Given the description of an element on the screen output the (x, y) to click on. 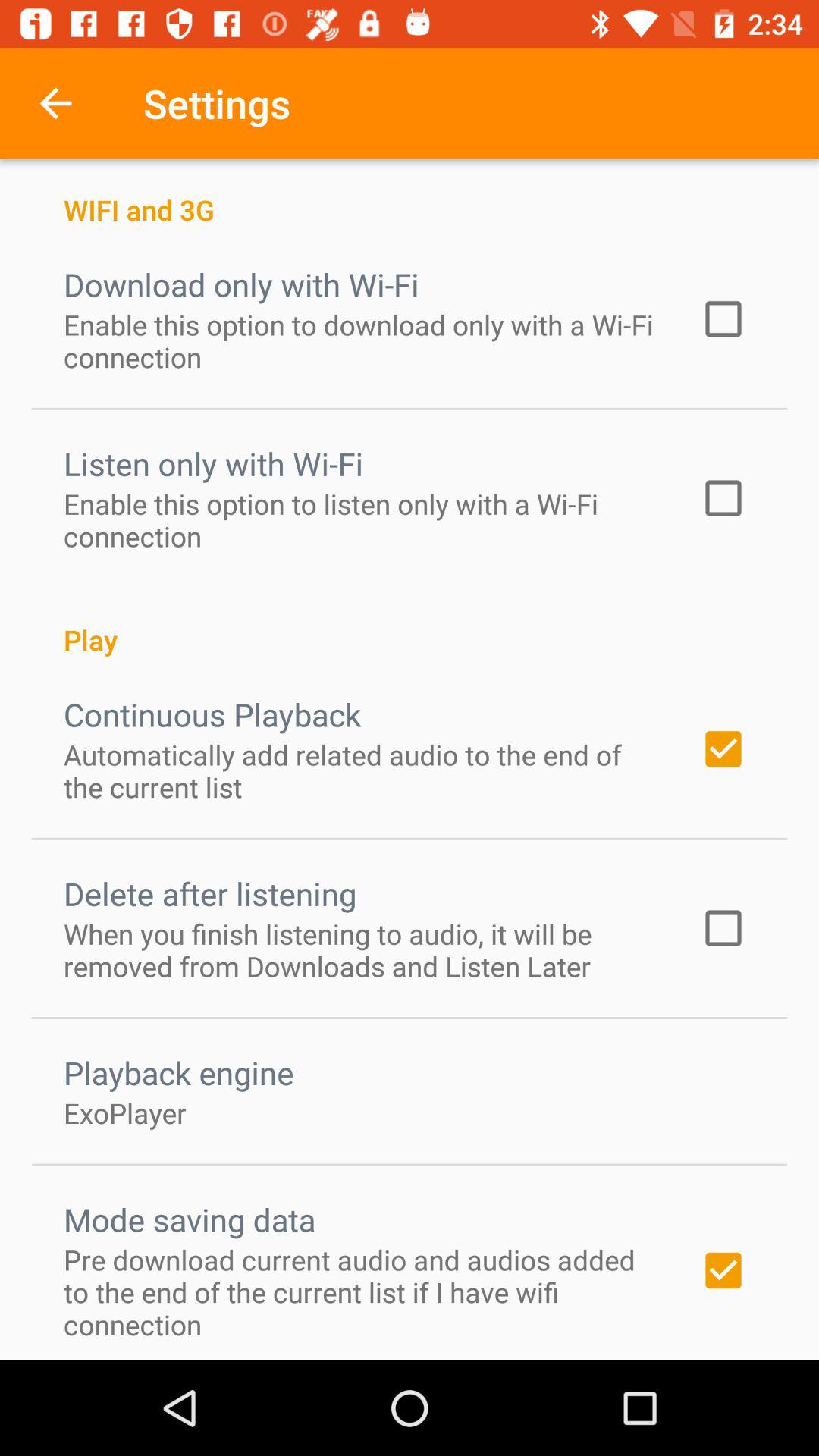
launch icon below continuous playback item (361, 770)
